Given the description of an element on the screen output the (x, y) to click on. 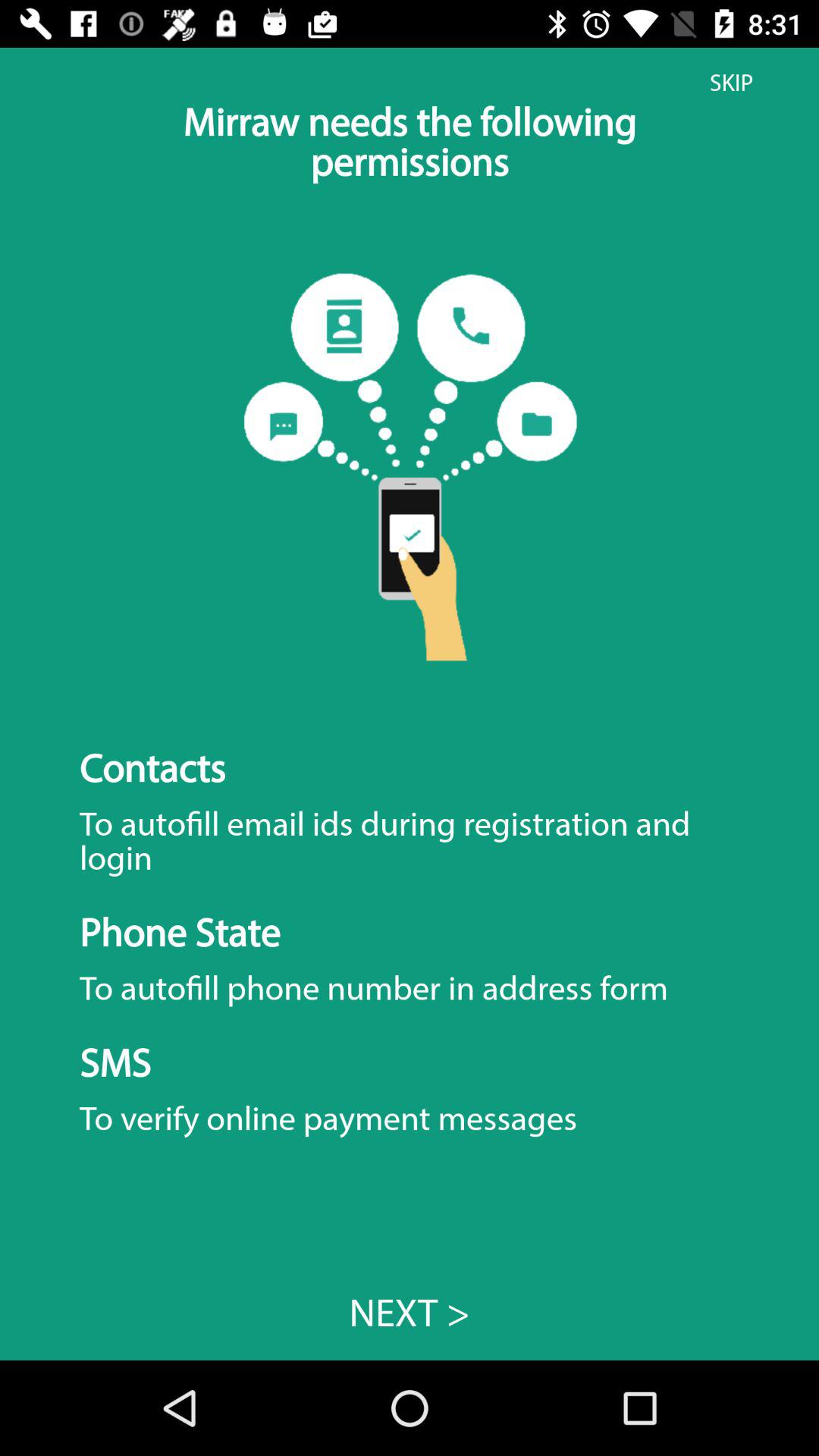
tap the skip item (731, 83)
